Given the description of an element on the screen output the (x, y) to click on. 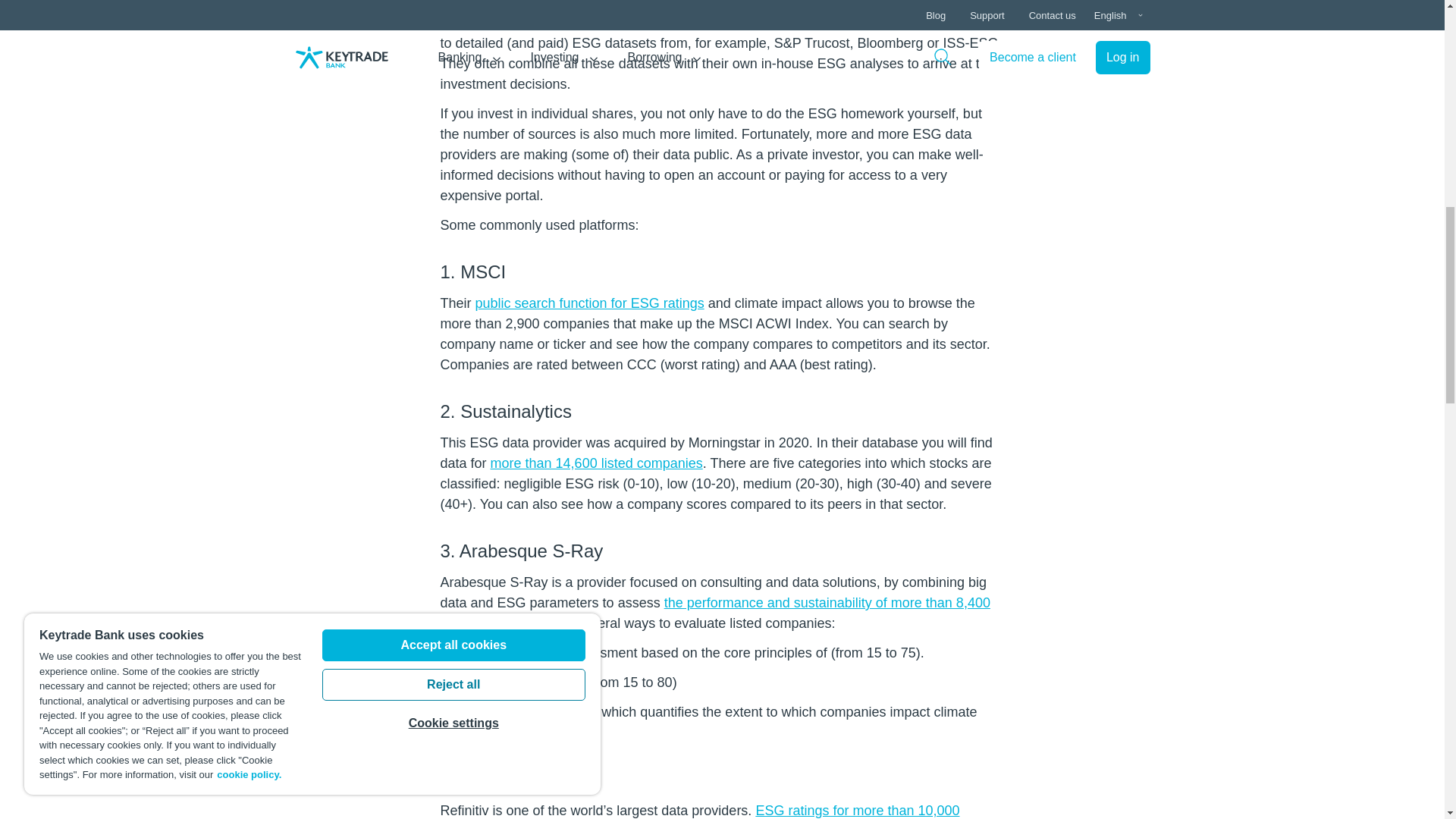
ESG ratings for more than 10,000 companies (699, 811)
more than 14,600 listed companies (596, 462)
public search function for ESG ratings (590, 303)
